Given the description of an element on the screen output the (x, y) to click on. 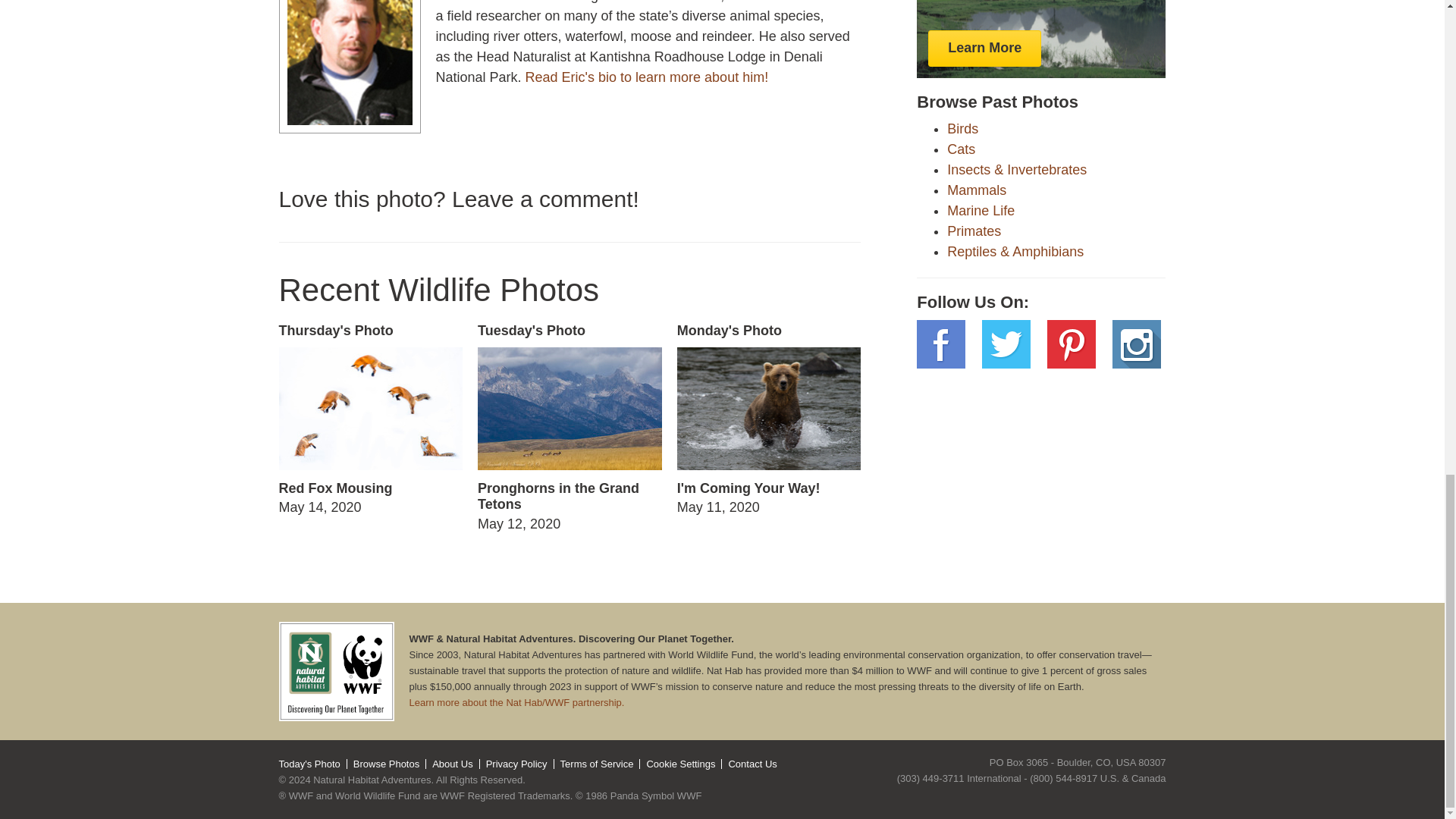
Birds (962, 128)
Learn More (984, 48)
Read Eric's bio to learn more about him! (646, 77)
Cats (961, 149)
Primates (370, 419)
Marine Life (569, 428)
Mammals (974, 231)
